Given the description of an element on the screen output the (x, y) to click on. 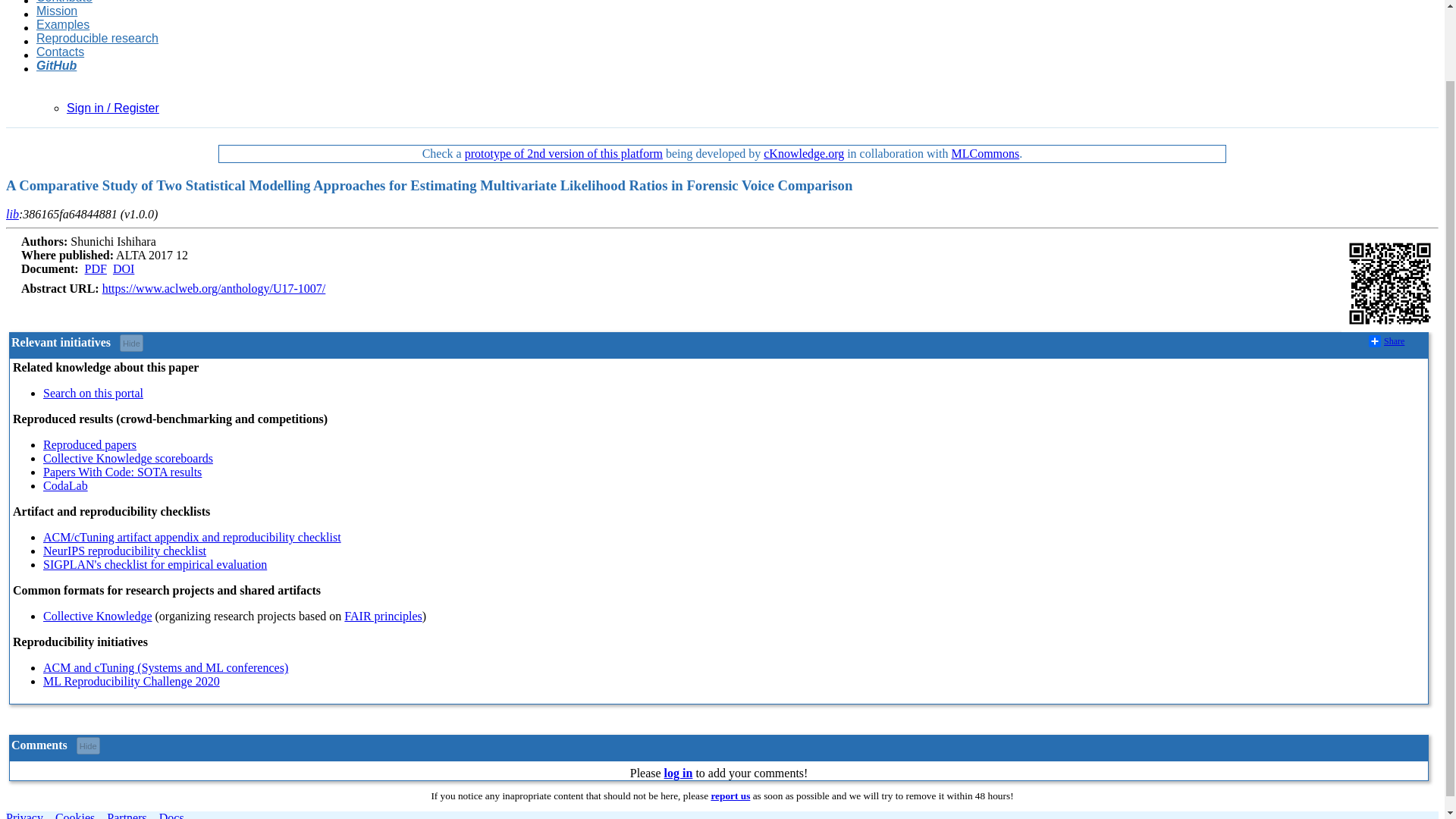
Hide (88, 745)
Papers With Code: SOTA results (122, 472)
ML Reproducibility Challenge 2020 (131, 680)
SIGPLAN's checklist for empirical evaluation (154, 563)
Collective Knowledge scoreboards (127, 458)
Reproducible research (97, 38)
Mission (56, 11)
log in (678, 772)
Contacts (60, 51)
Search on this portal (92, 392)
lib (11, 214)
Collective Knowledge (97, 615)
cKnowledge.org (803, 153)
Reproduced papers (89, 444)
MLCommons (984, 153)
